Given the description of an element on the screen output the (x, y) to click on. 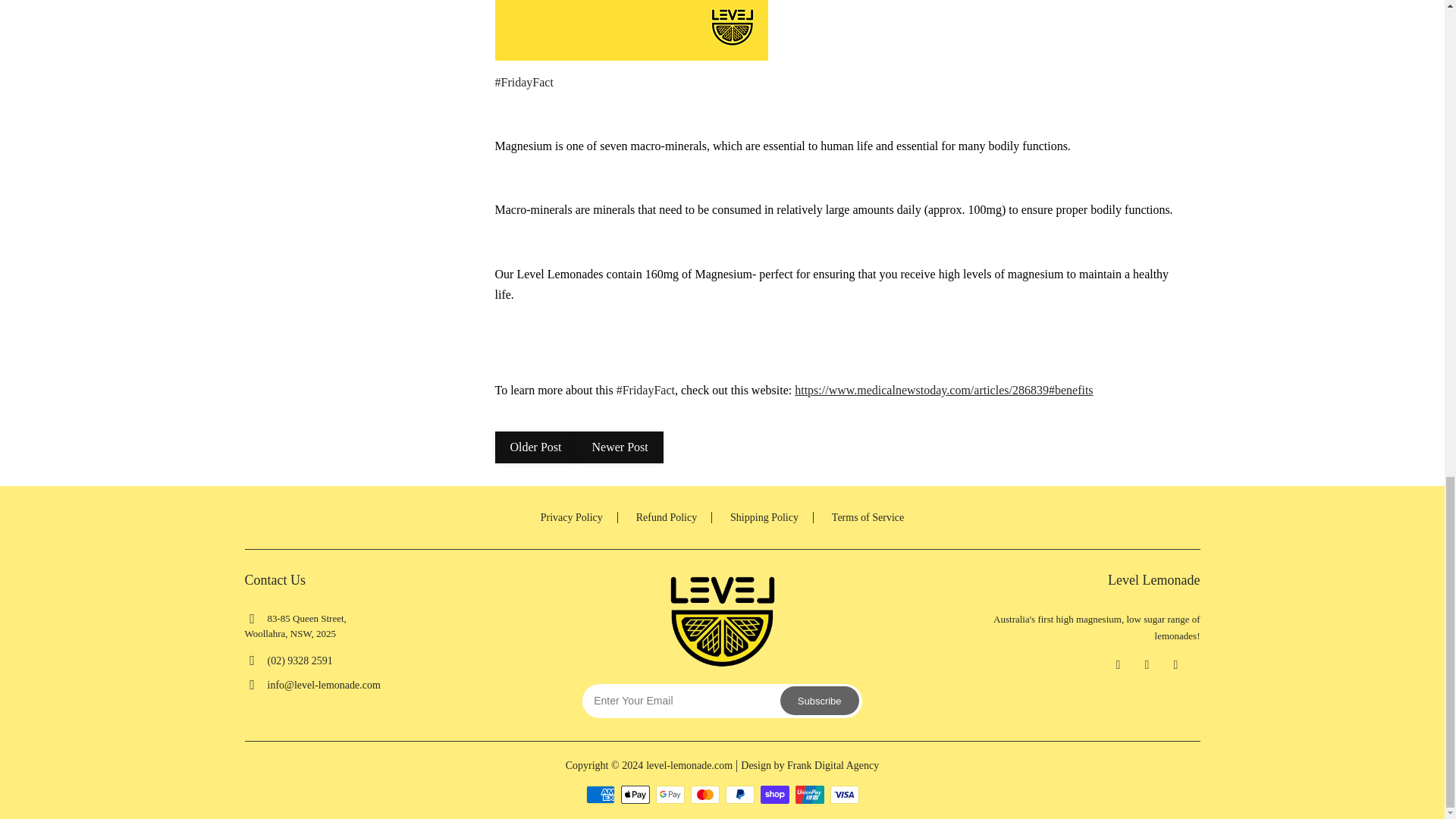
level-lemonade.com on Instagram (1146, 665)
Shop Pay (774, 794)
PayPal (739, 794)
Google Pay (669, 794)
Union Pay (809, 794)
American Express (599, 794)
Mastercard (704, 794)
Visa (844, 794)
Apple Pay (634, 794)
level-lemonade.com on Facebook (1117, 665)
